Given the description of an element on the screen output the (x, y) to click on. 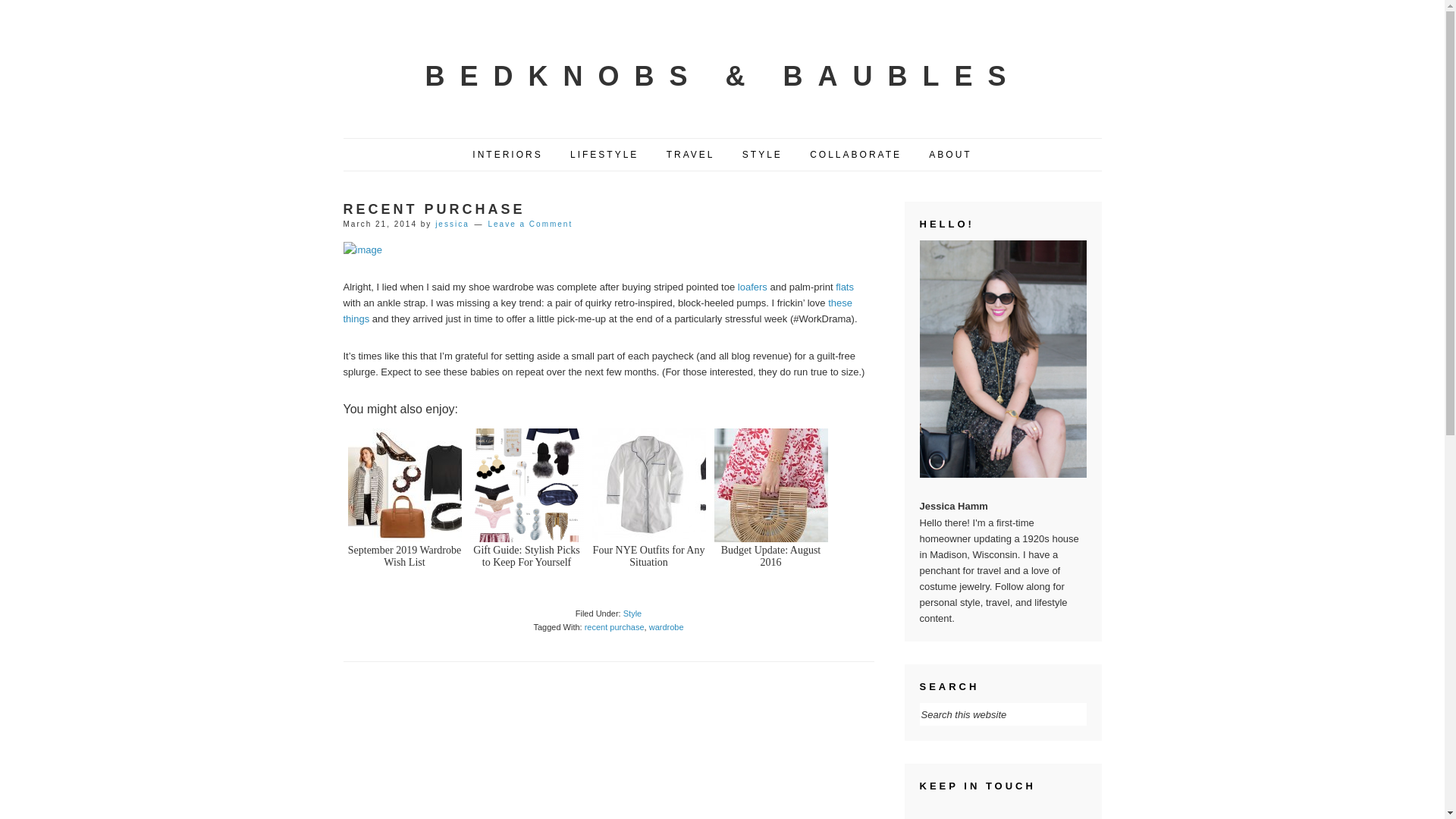
jessica (451, 224)
INTERIORS (507, 154)
TRAVEL (690, 154)
loafers (752, 286)
flats (844, 286)
recent purchase (615, 626)
wardrobe (666, 626)
these things (596, 310)
COLLABORATE (854, 154)
